Given the description of an element on the screen output the (x, y) to click on. 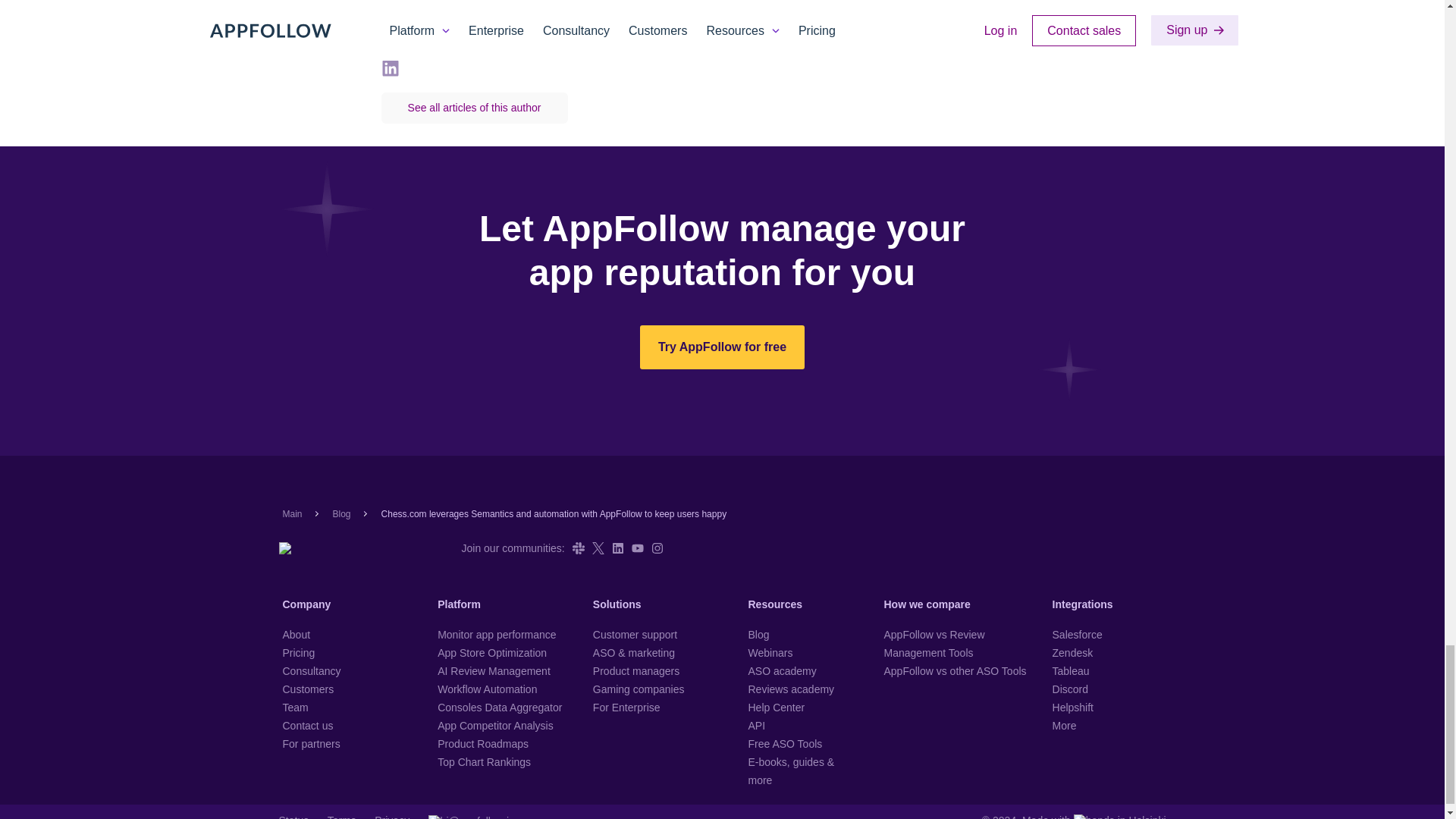
Main (291, 513)
Twitter (598, 548)
LinkedIn (617, 548)
Made with hands (1094, 816)
Instagram (656, 548)
YouTube (637, 548)
Blog (341, 513)
Slack (578, 548)
